Given the description of an element on the screen output the (x, y) to click on. 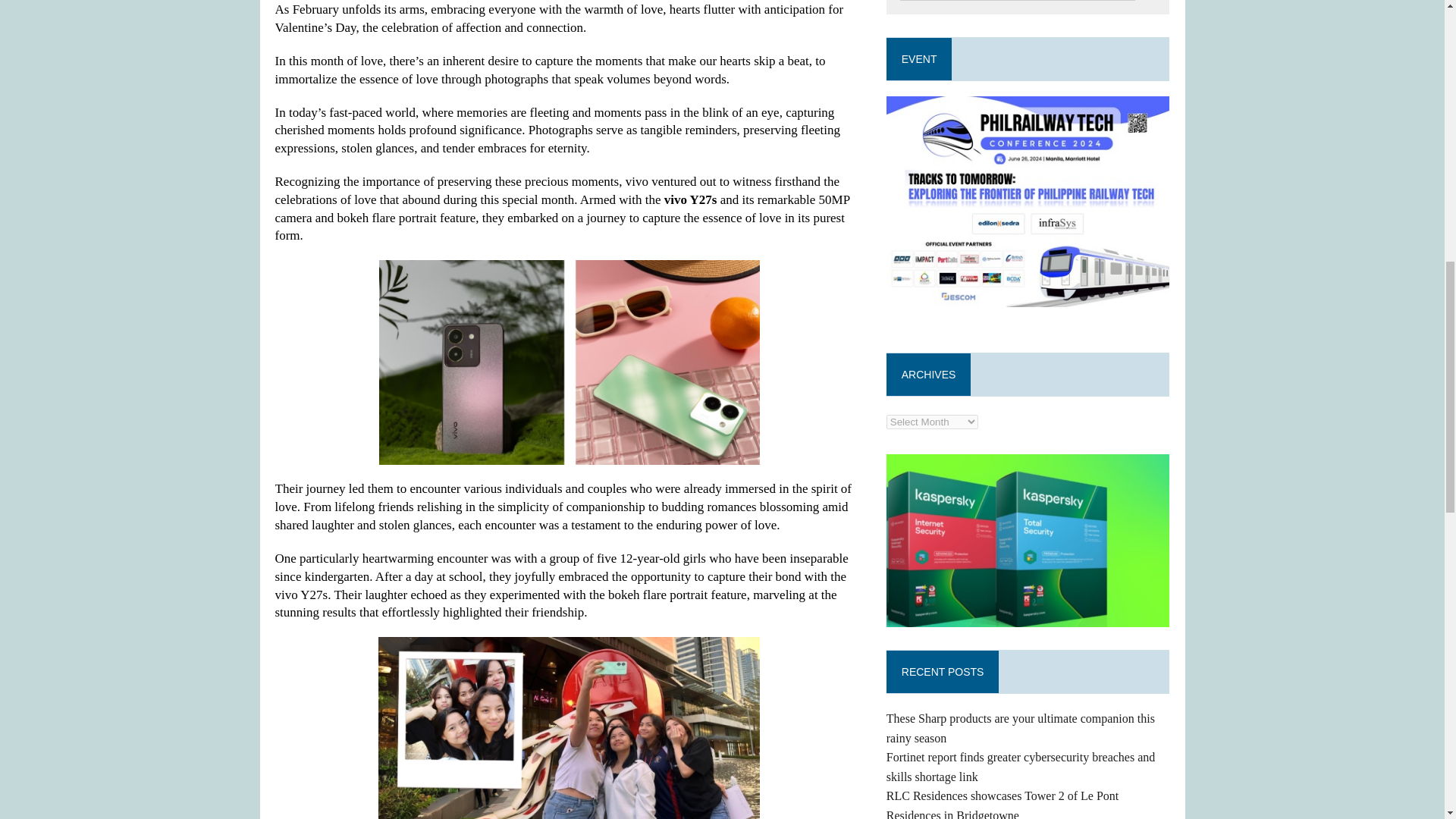
Kaspersky (1028, 540)
Recommended (1028, 201)
